Given the description of an element on the screen output the (x, y) to click on. 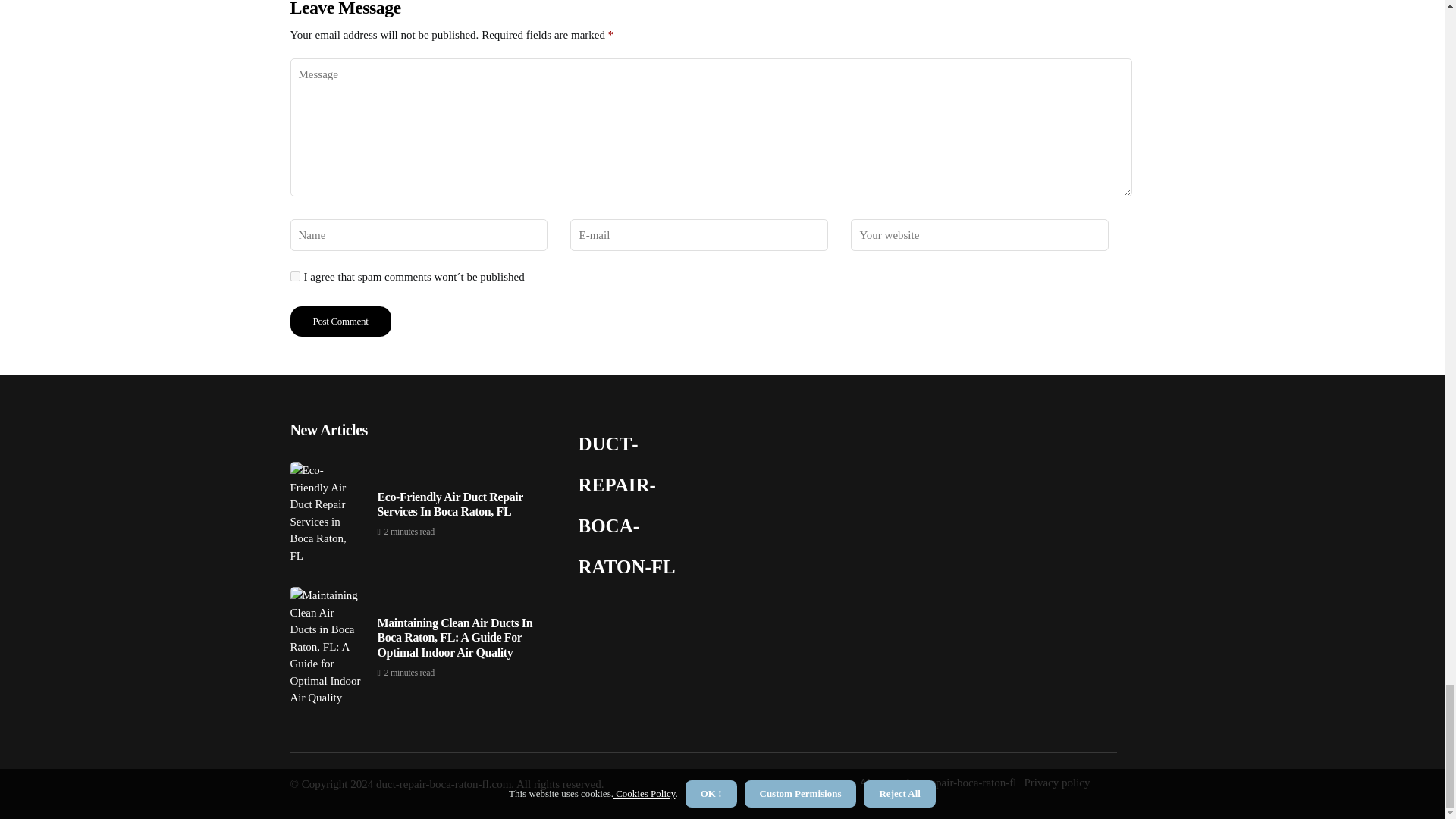
Post Comment (339, 321)
Post Comment (339, 321)
yes (294, 276)
